Given the description of an element on the screen output the (x, y) to click on. 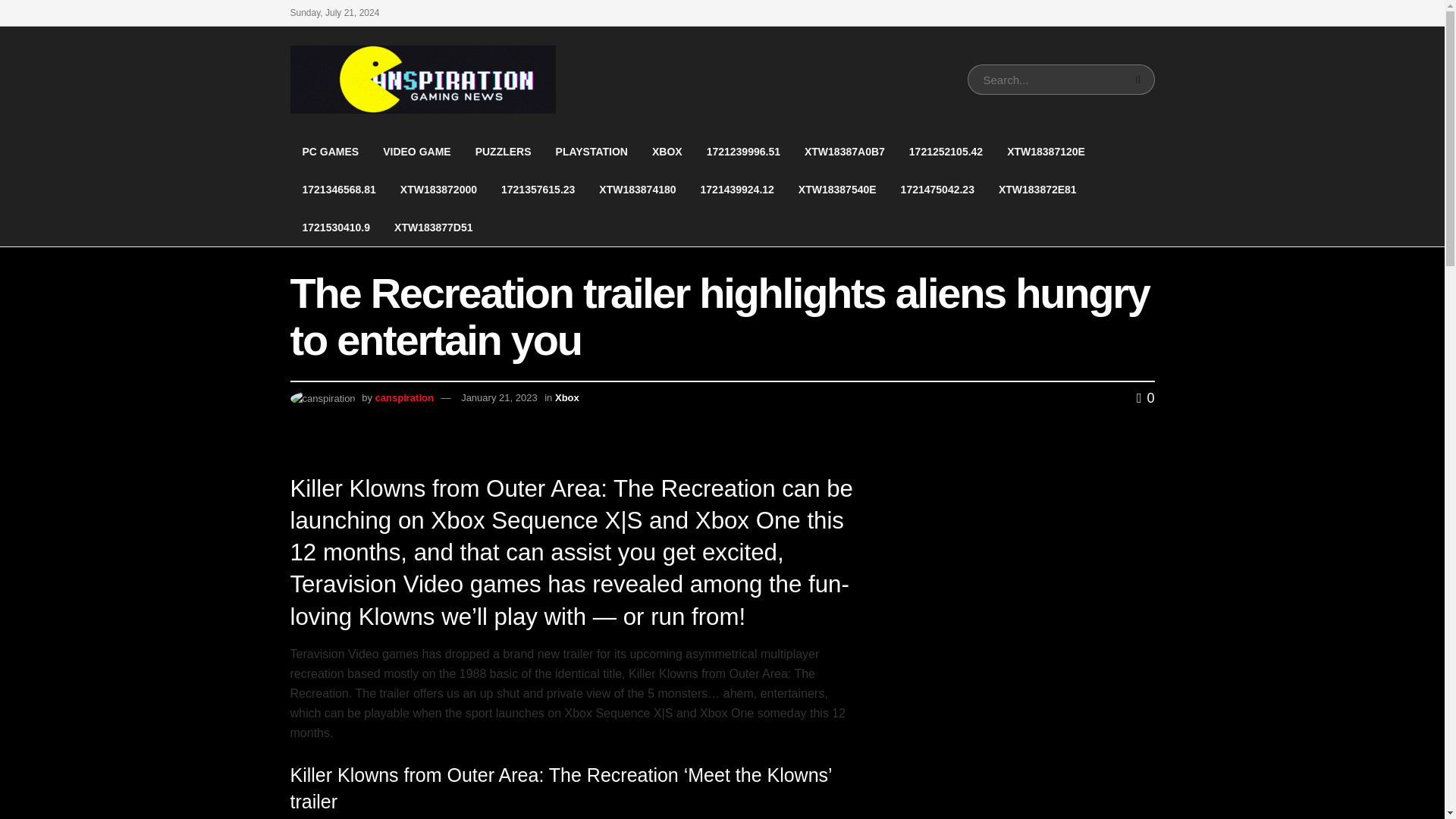
XTW183877D51 (432, 227)
PUZZLERS (503, 151)
1721346568.81 (338, 189)
1721530410.9 (335, 227)
1721252105.42 (945, 151)
XTW183872000 (438, 189)
XTW183874180 (636, 189)
XTW18387120E (1045, 151)
XTW18387540E (837, 189)
PC GAMES (330, 151)
1721239996.51 (743, 151)
1721439924.12 (737, 189)
XTW183872E81 (1038, 189)
XBOX (667, 151)
1721357615.23 (537, 189)
